Given the description of an element on the screen output the (x, y) to click on. 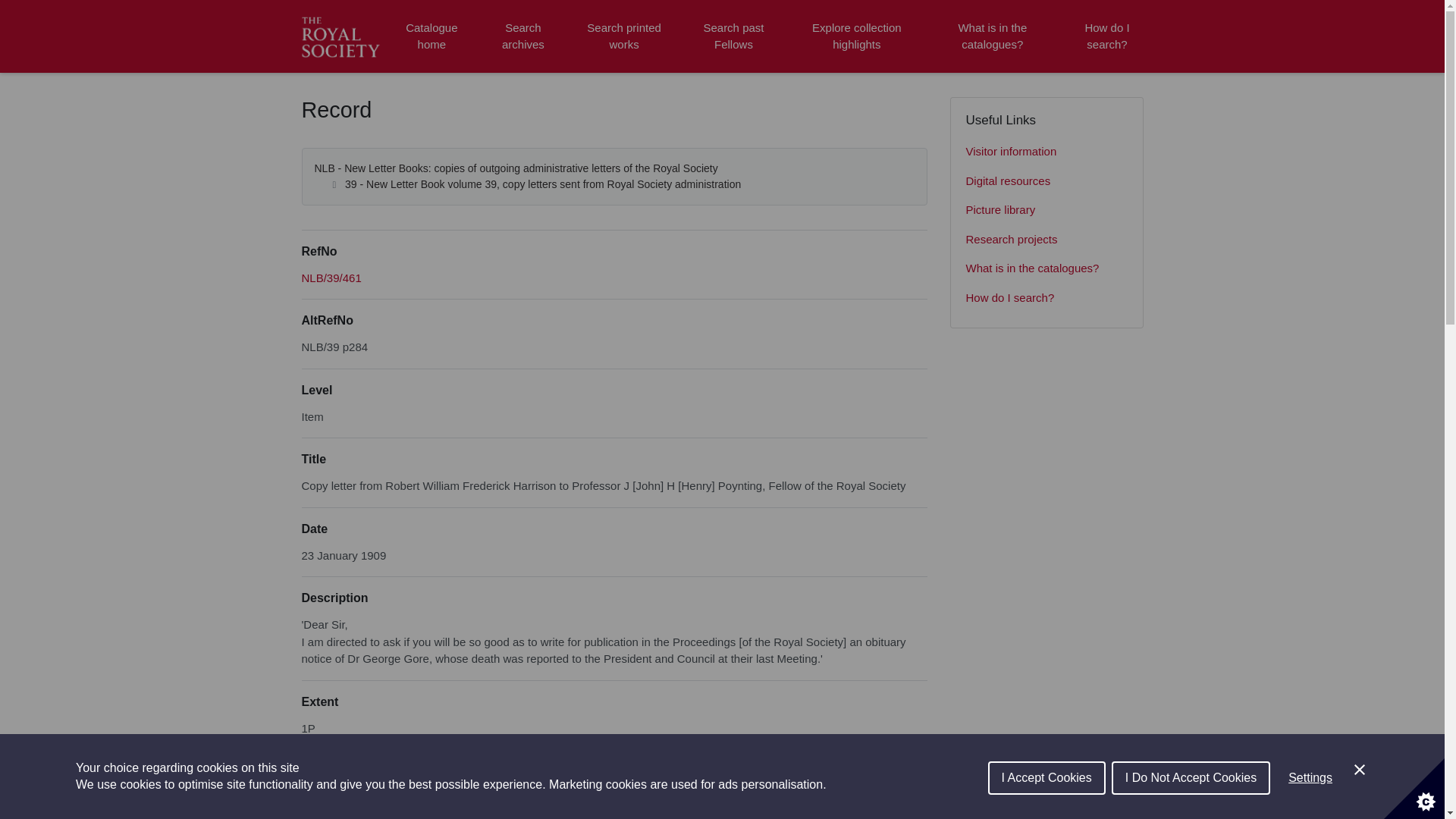
What is in the catalogues? (1046, 268)
What is in the catalogues? (991, 36)
Homepage (343, 36)
Digital resources (1046, 181)
Browse record in hierarchy. (331, 277)
Settings (1309, 816)
Research projects (1046, 239)
Search archives (522, 36)
Search printed works (624, 36)
